Given the description of an element on the screen output the (x, y) to click on. 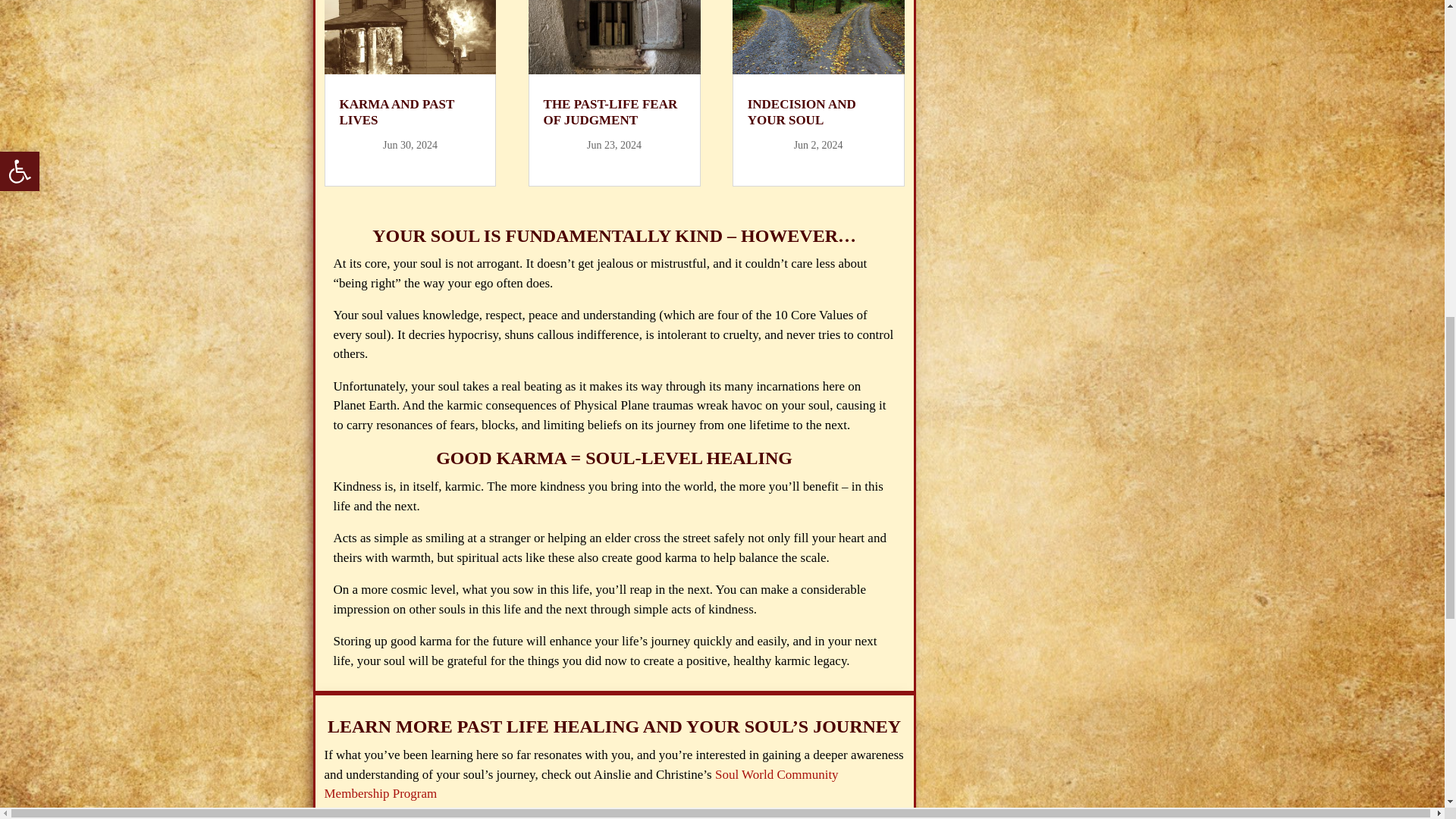
THE PAST-LIFE FEAR OF JUDGMENT (610, 111)
KARMA AND PAST LIVES (396, 111)
Soul World Community Membership Program (581, 784)
INDECISION AND YOUR SOUL (802, 111)
